Given the description of an element on the screen output the (x, y) to click on. 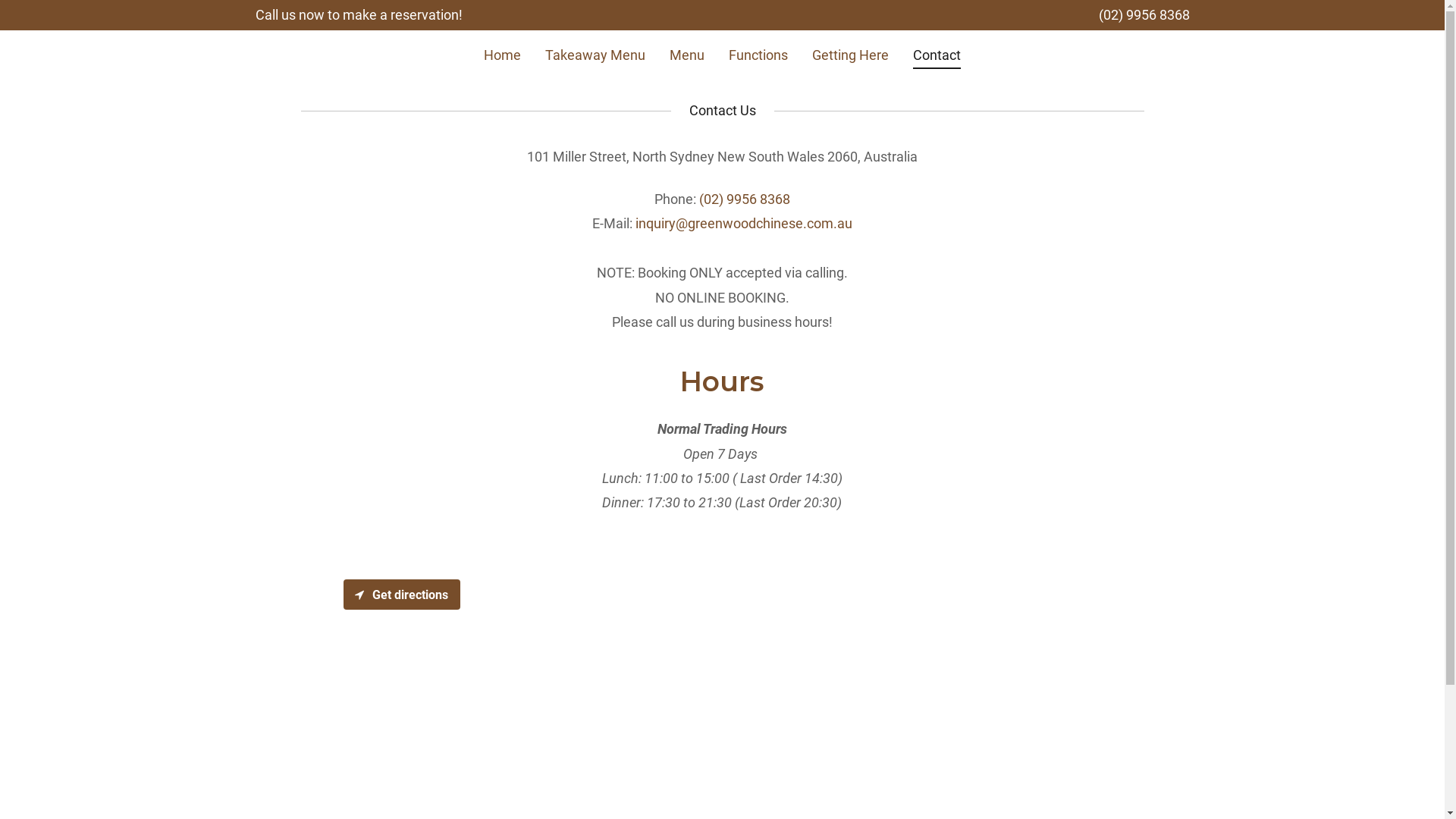
Home Element type: text (502, 54)
Getting Here Element type: text (850, 54)
Menu Element type: text (687, 54)
Contact Element type: text (936, 57)
inquiry@greenwoodchinese.com.au Element type: text (743, 223)
Get directions Element type: text (400, 594)
(02) 9956 8368 Element type: text (744, 199)
Functions Element type: text (758, 54)
Takeaway Menu Element type: text (594, 54)
(02) 9956 8368 Element type: text (1143, 14)
Call us now to make a reservation! Element type: text (357, 15)
